Given the description of an element on the screen output the (x, y) to click on. 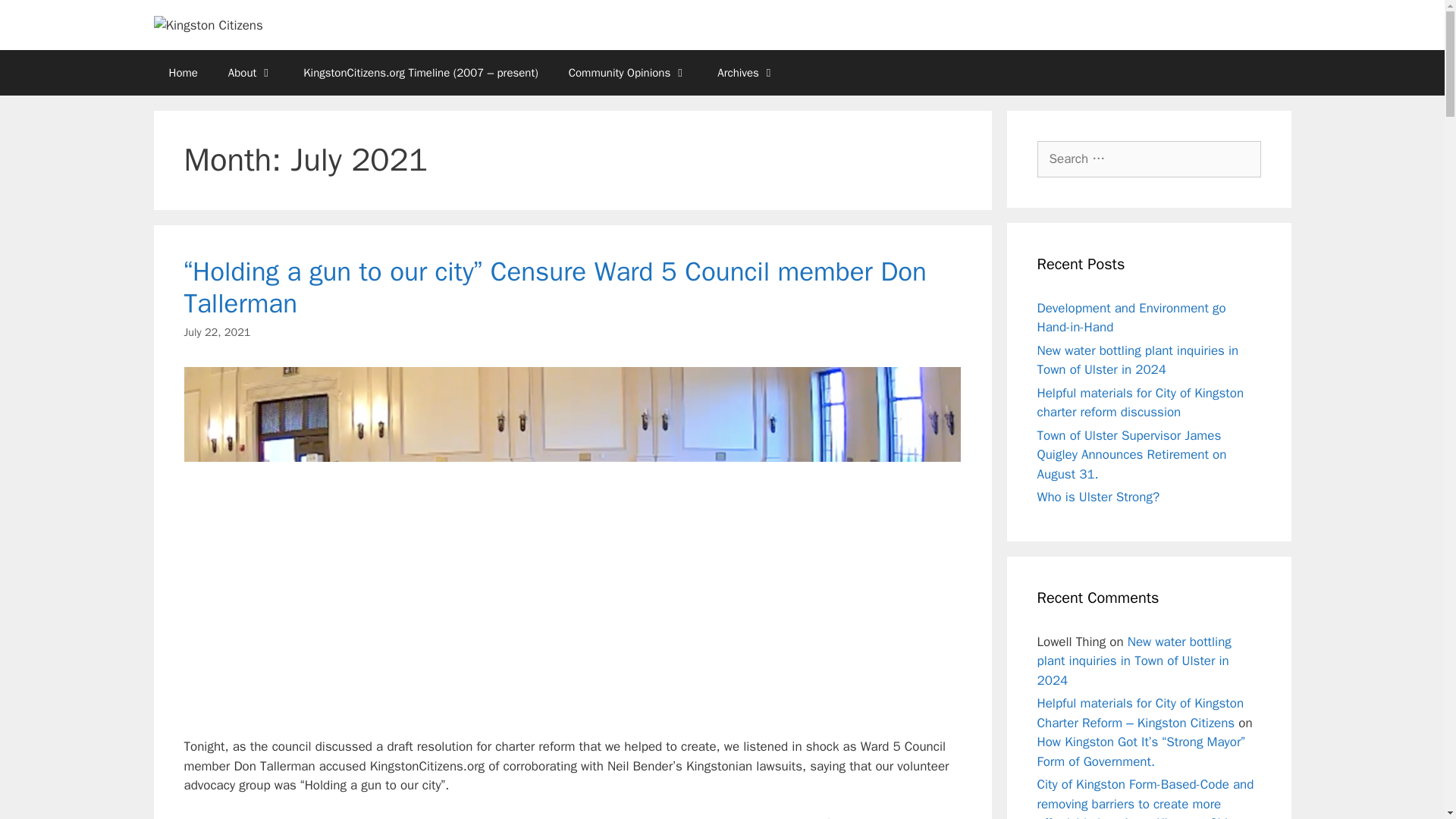
Search for: (1148, 158)
Home (182, 72)
About (250, 72)
Community Opinions (628, 72)
